Given the description of an element on the screen output the (x, y) to click on. 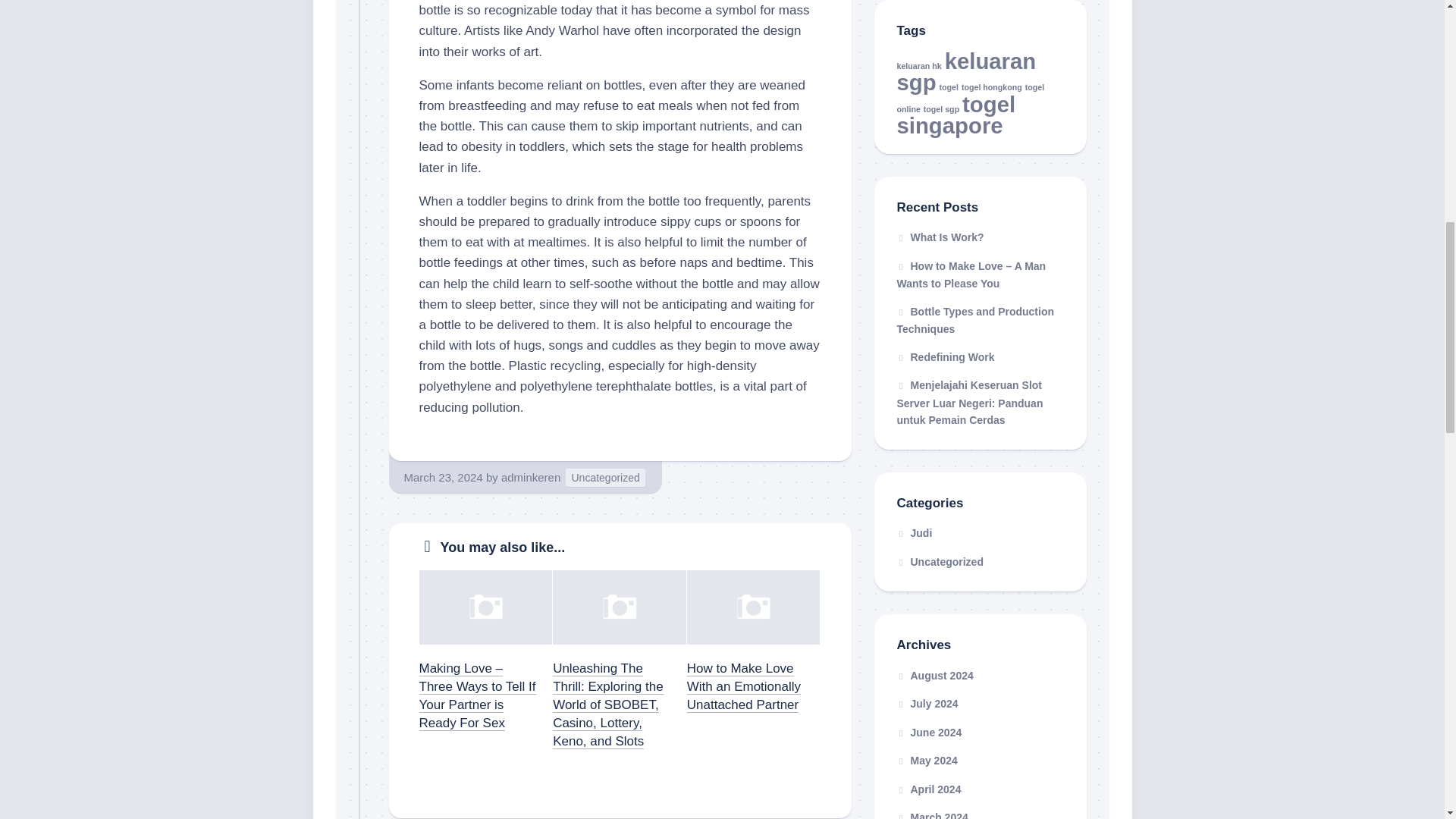
keluaran sgp (965, 71)
togel (948, 86)
togel hongkong (991, 86)
How to Make Love With an Emotionally Unattached Partner (743, 685)
togel online (969, 97)
keluaran hk (918, 64)
togel sgp (941, 108)
Uncategorized (605, 477)
togel singapore (955, 114)
Posts by adminkeren (530, 477)
